Given the description of an element on the screen output the (x, y) to click on. 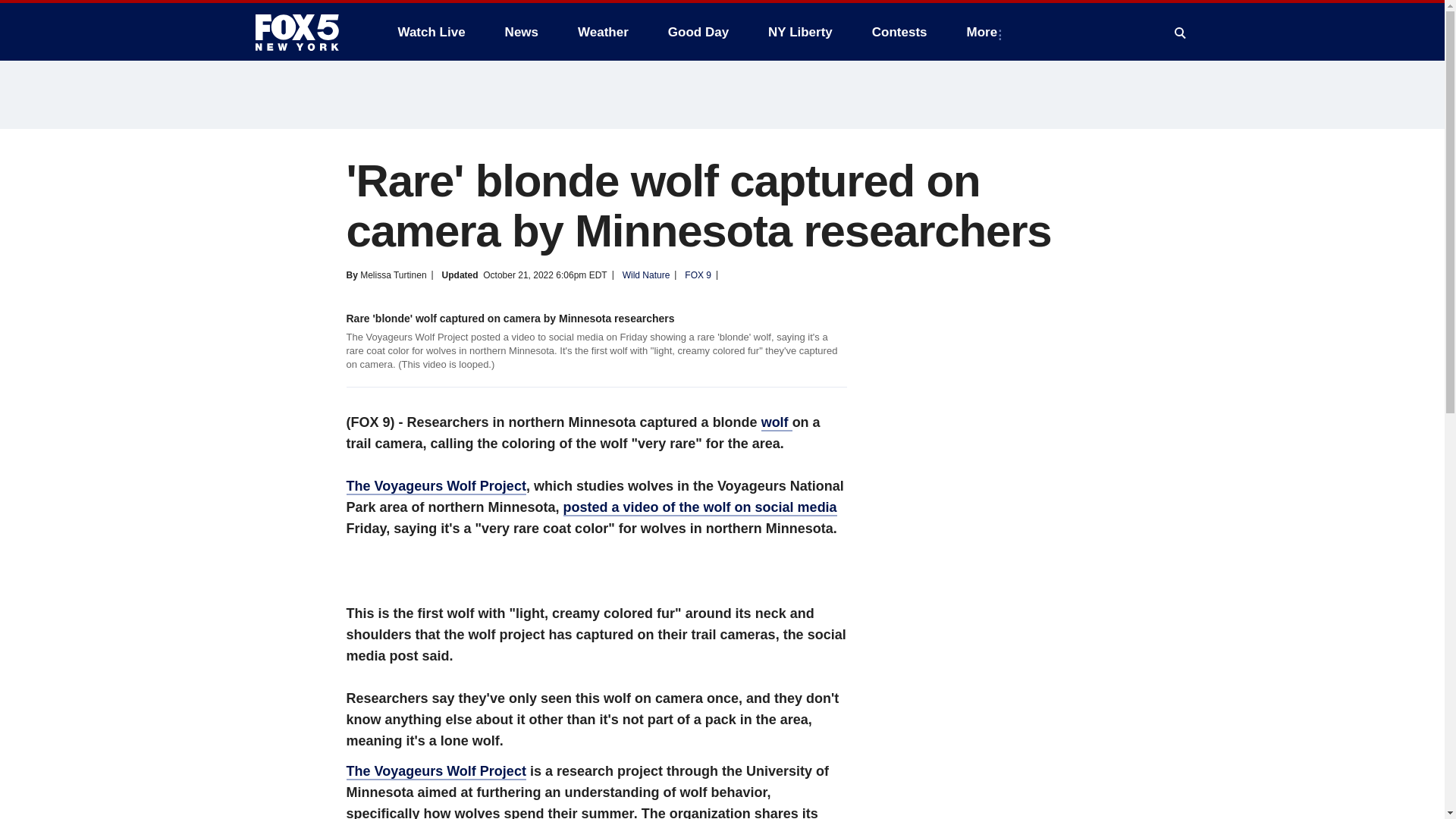
News (521, 32)
NY Liberty (799, 32)
Good Day (698, 32)
Contests (899, 32)
Watch Live (431, 32)
Weather (603, 32)
More (985, 32)
